Given the description of an element on the screen output the (x, y) to click on. 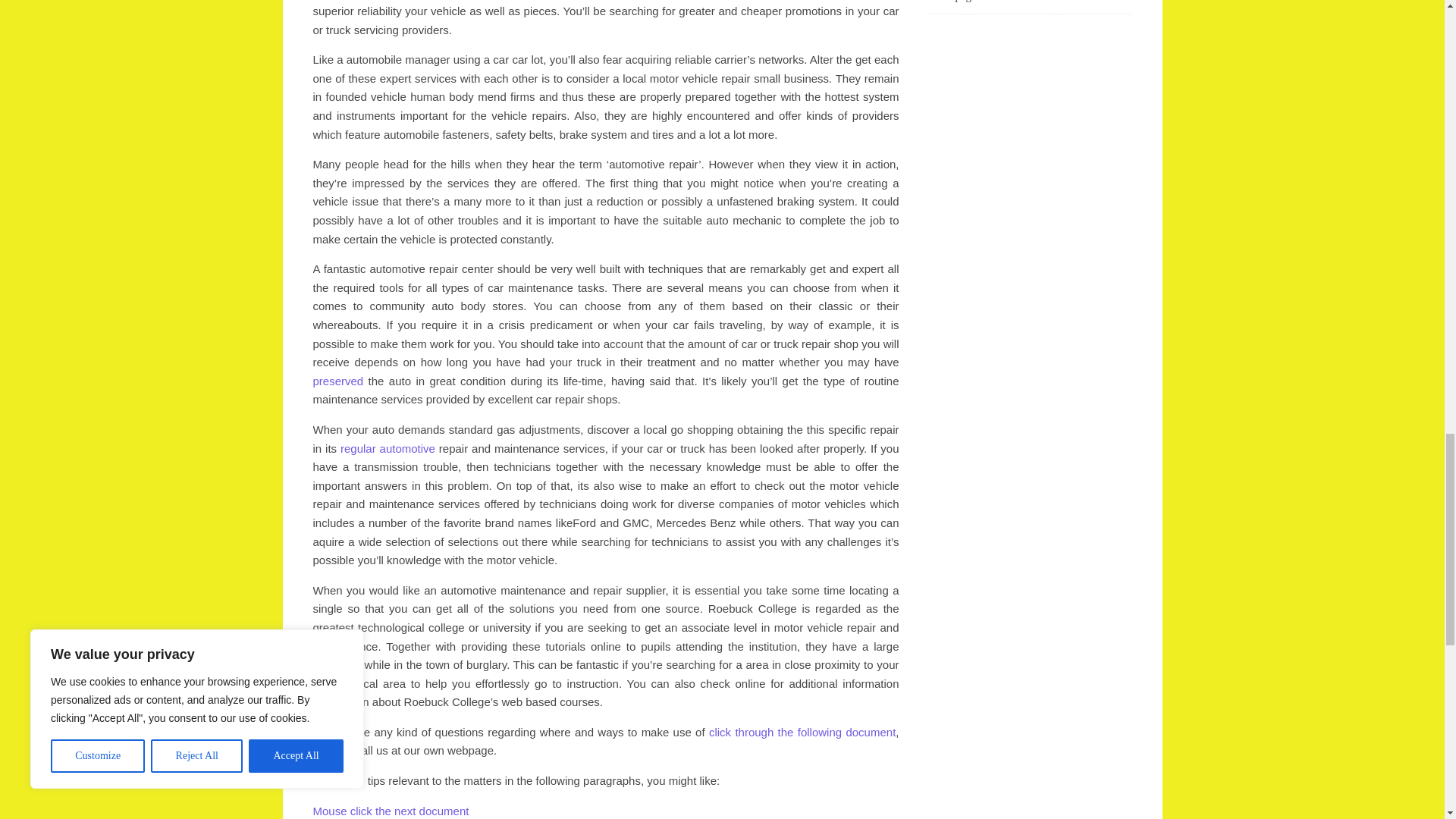
click through the following document (802, 731)
Mouse click the next document (390, 810)
regular automotive (387, 448)
preserved (337, 380)
